Given the description of an element on the screen output the (x, y) to click on. 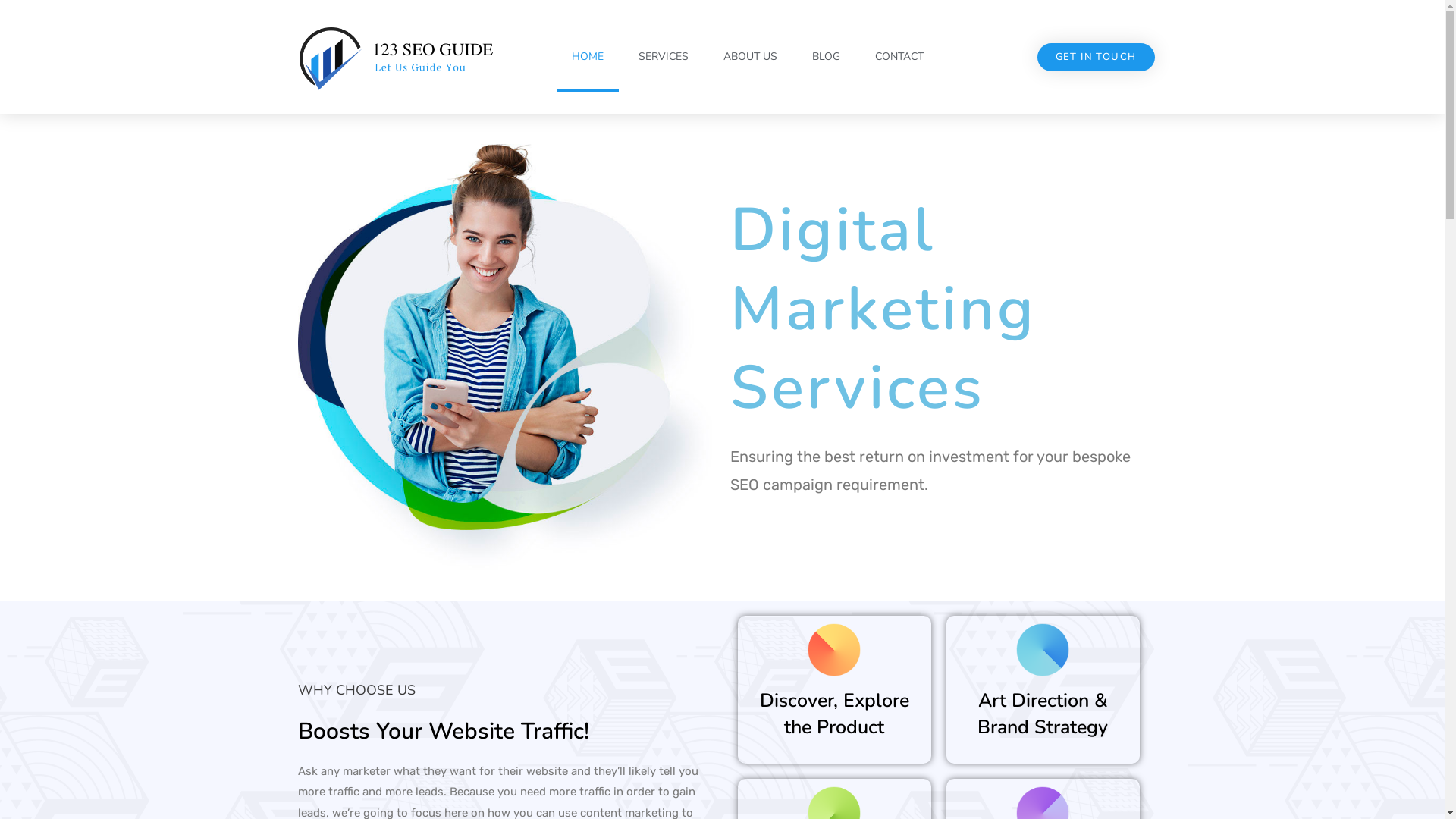
GET IN TOUCH Element type: text (1095, 56)
HOME Element type: text (587, 56)
BLOG Element type: text (825, 56)
ABOUT US Element type: text (750, 56)
SERVICES Element type: text (663, 56)
CONTACT Element type: text (898, 56)
